Given the description of an element on the screen output the (x, y) to click on. 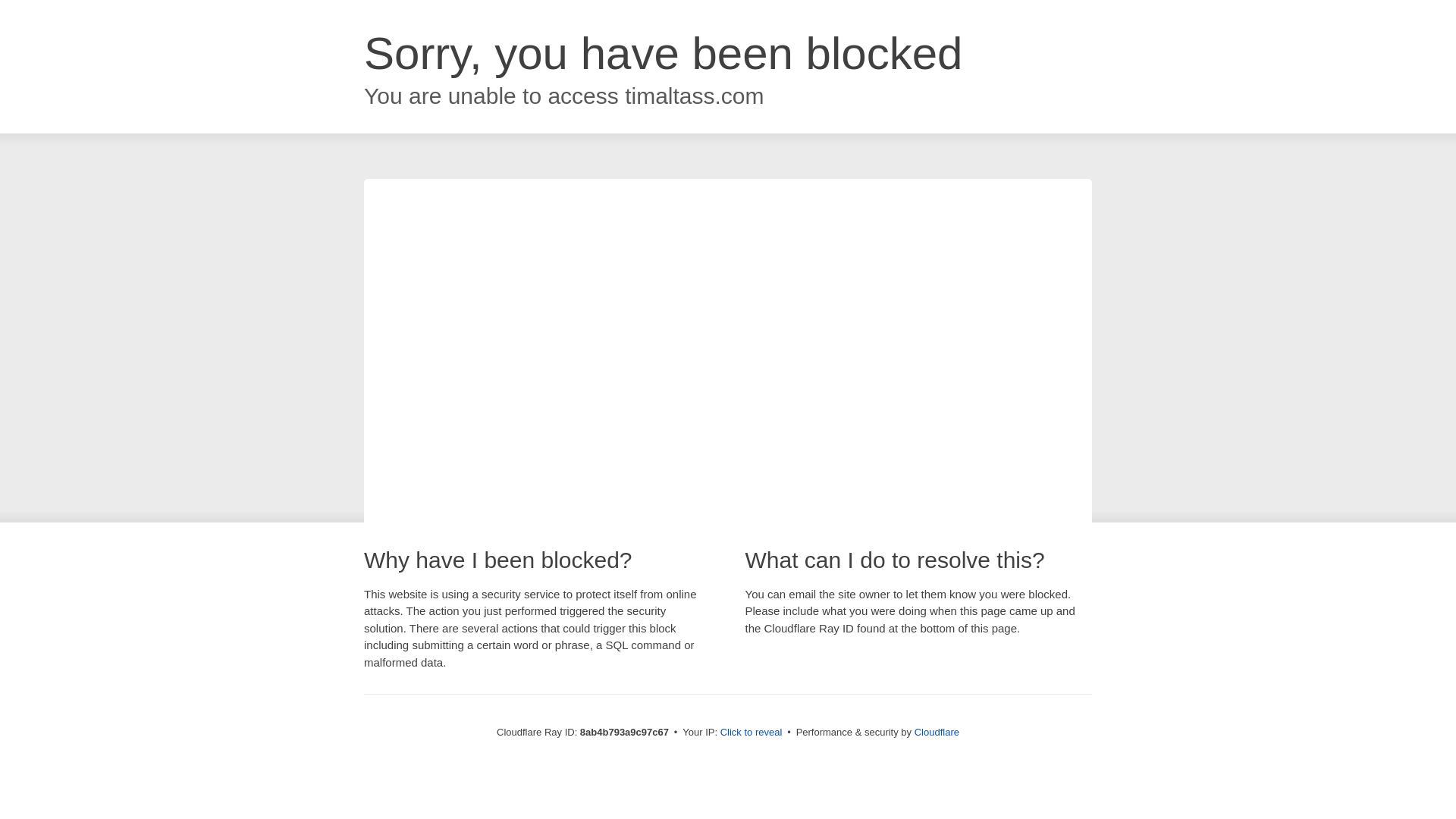
Cloudflare (936, 731)
Click to reveal (751, 732)
